Given the description of an element on the screen output the (x, y) to click on. 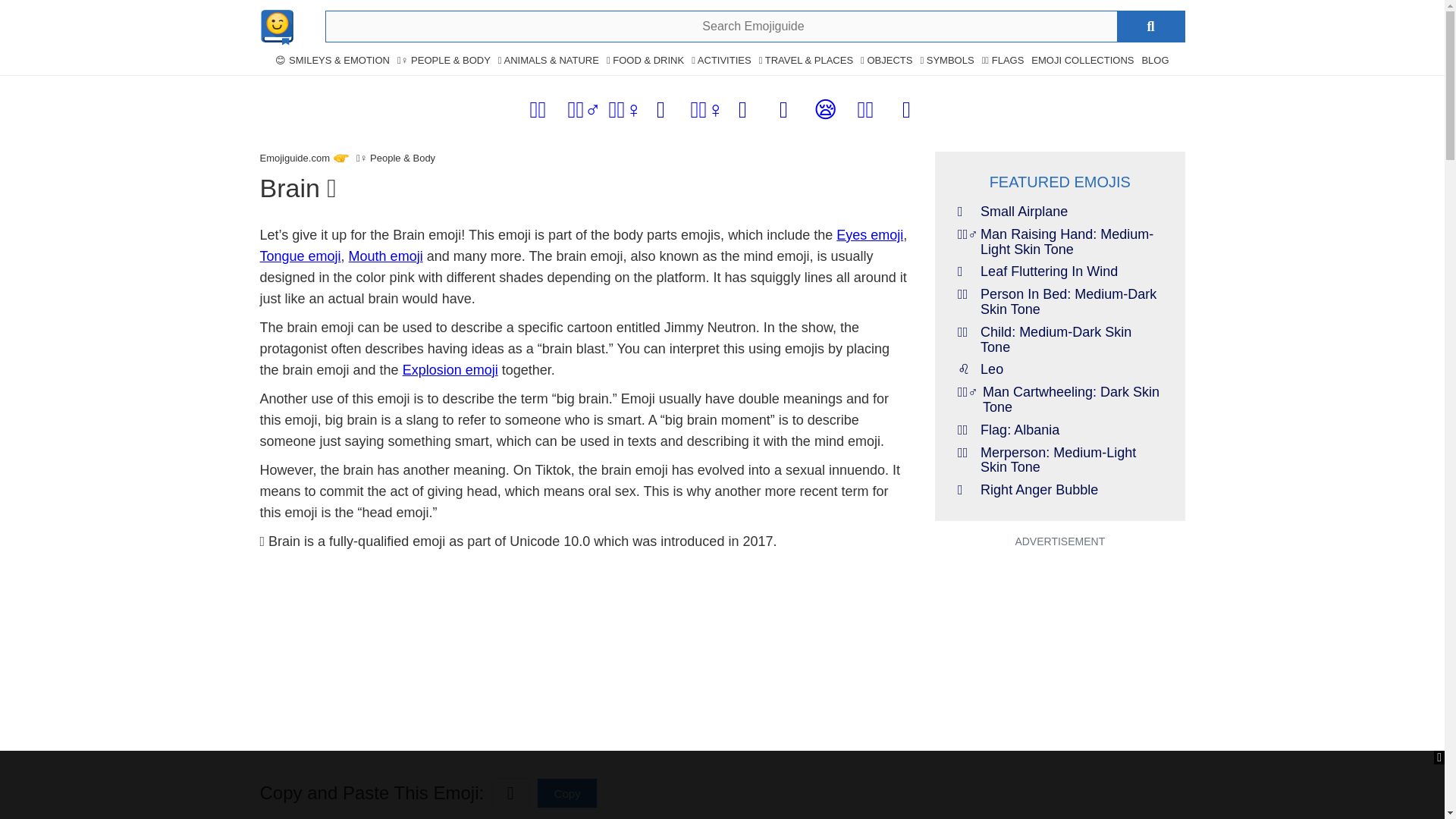
mermaid: dark skin tone (625, 113)
BLOG (1155, 60)
Emojiguide (294, 157)
Explosion emoji (450, 369)
man surfing: medium skin tone (583, 113)
Mrs. Claus: medium-dark skin tone (866, 113)
sleepy face (823, 113)
person swimming: medium-light skin tone (538, 113)
Emojiguide.com (294, 157)
